Given the description of an element on the screen output the (x, y) to click on. 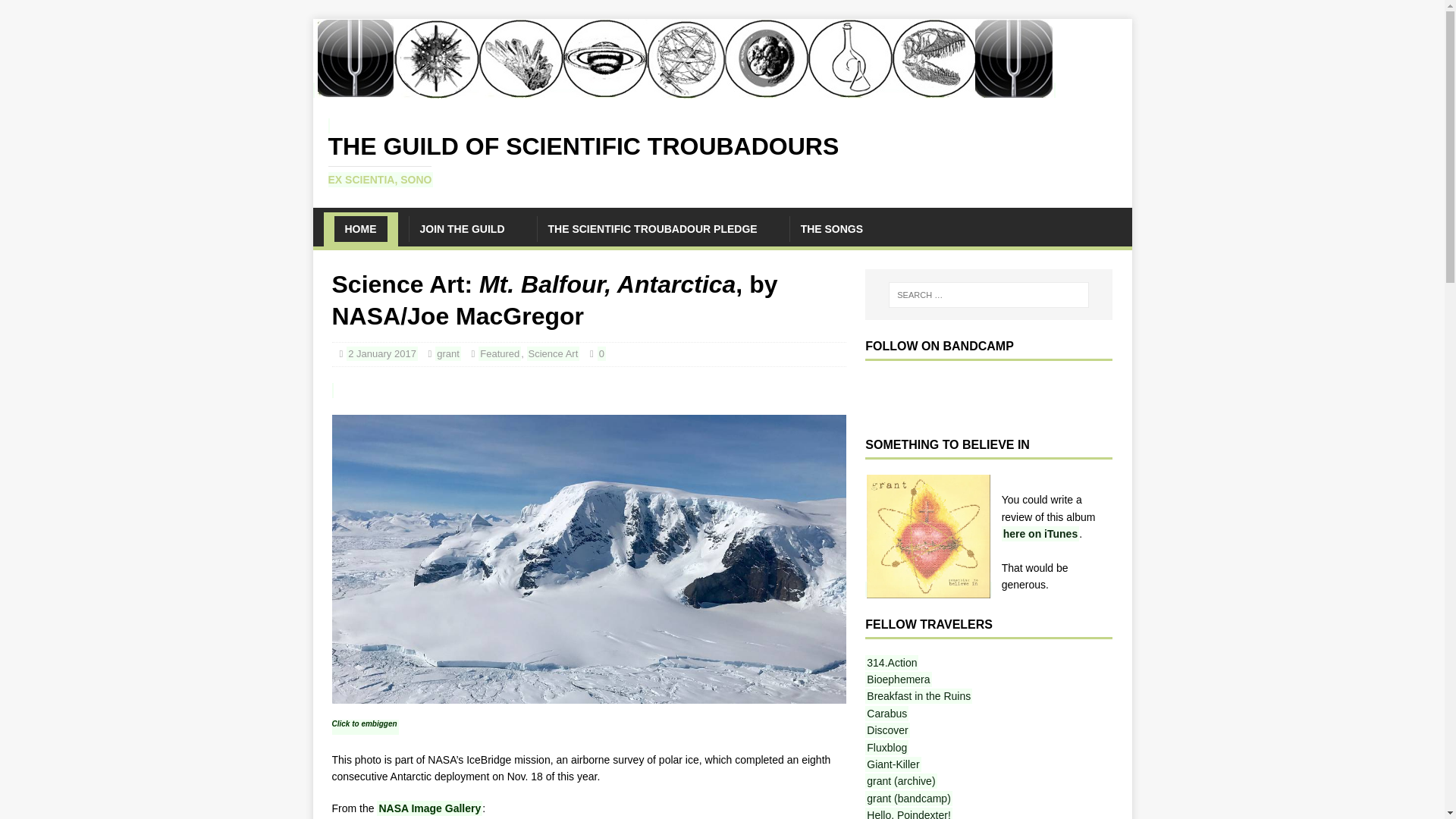
314.Action (891, 662)
Hello, Poindexter! (908, 813)
The Guild of Scientific Troubadours (721, 152)
HOME (360, 228)
The Guild of Scientific Troubadours (683, 89)
grant (448, 353)
Search (28, 7)
Carabus (886, 713)
Fluxblog (886, 747)
Giant-Killer (721, 152)
THE SONGS (892, 764)
Bioephemera (831, 228)
Discover (897, 679)
2 January 2017 (886, 729)
